Given the description of an element on the screen output the (x, y) to click on. 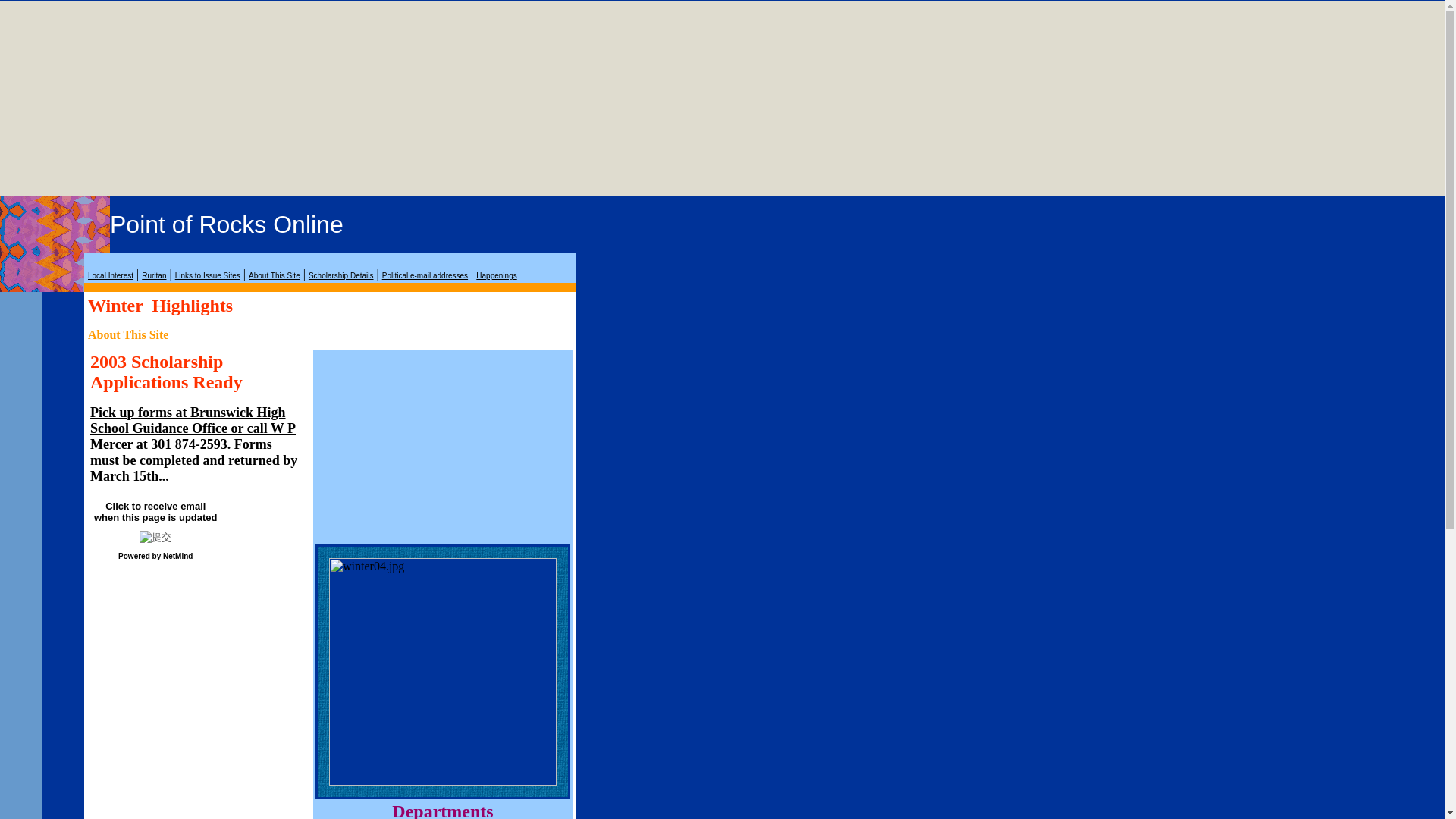
About This Site (273, 275)
About This Site (127, 334)
NetMind (177, 556)
Ruritan (153, 275)
Links to Issue Sites (207, 275)
Local Interest (110, 275)
Political e-mail addresses (424, 275)
Scholarship Details (341, 275)
Happenings (496, 275)
